Given the description of an element on the screen output the (x, y) to click on. 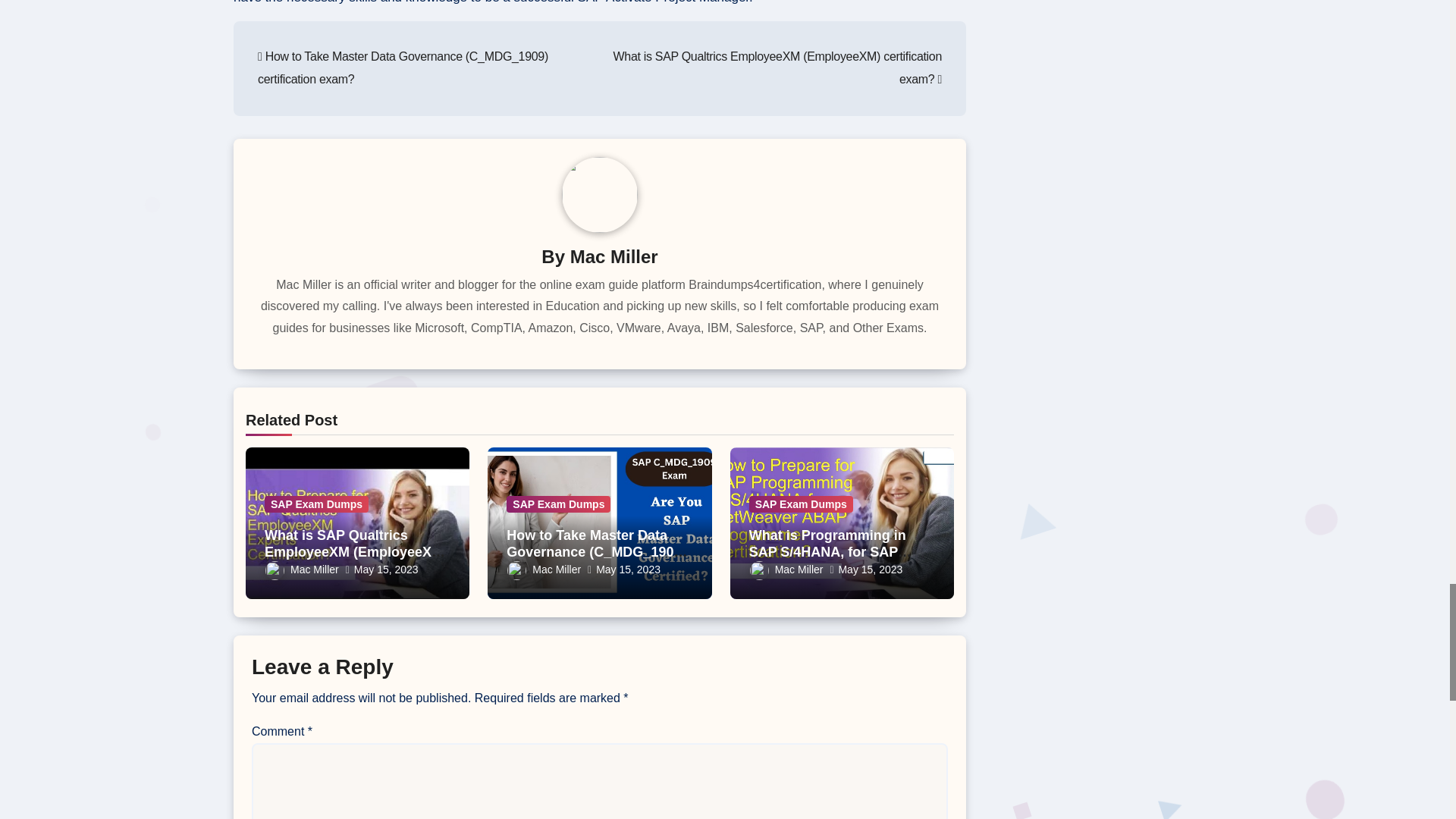
Mac Miller (614, 256)
May 15, 2023 (628, 569)
Mac Miller (543, 569)
SAP Exam Dumps (801, 504)
SAP Exam Dumps (558, 504)
May 15, 2023 (386, 569)
Mac Miller (786, 569)
SAP Exam Dumps (316, 504)
Mac Miller (301, 569)
